Given the description of an element on the screen output the (x, y) to click on. 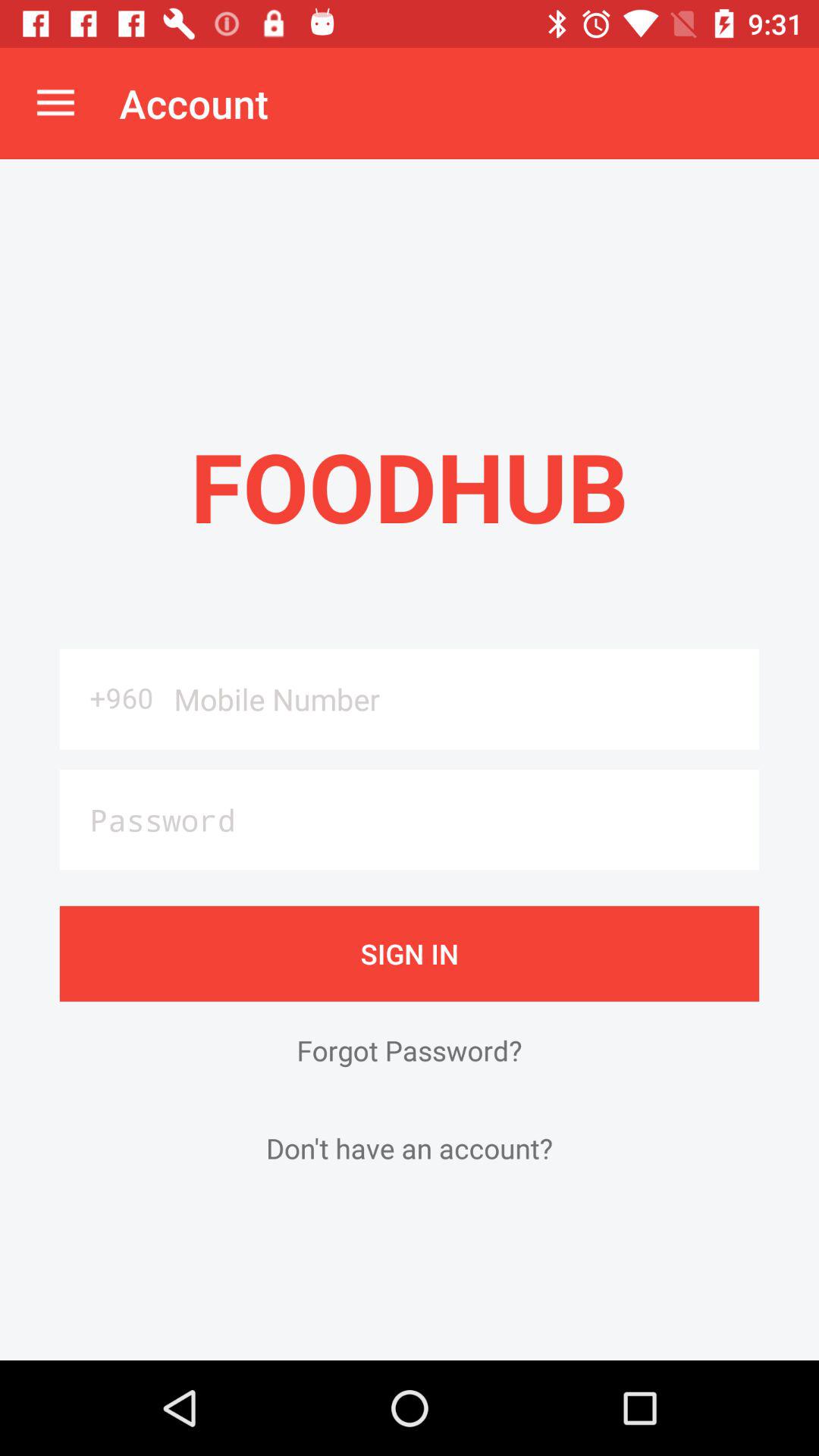
phone number entry box (461, 698)
